Given the description of an element on the screen output the (x, y) to click on. 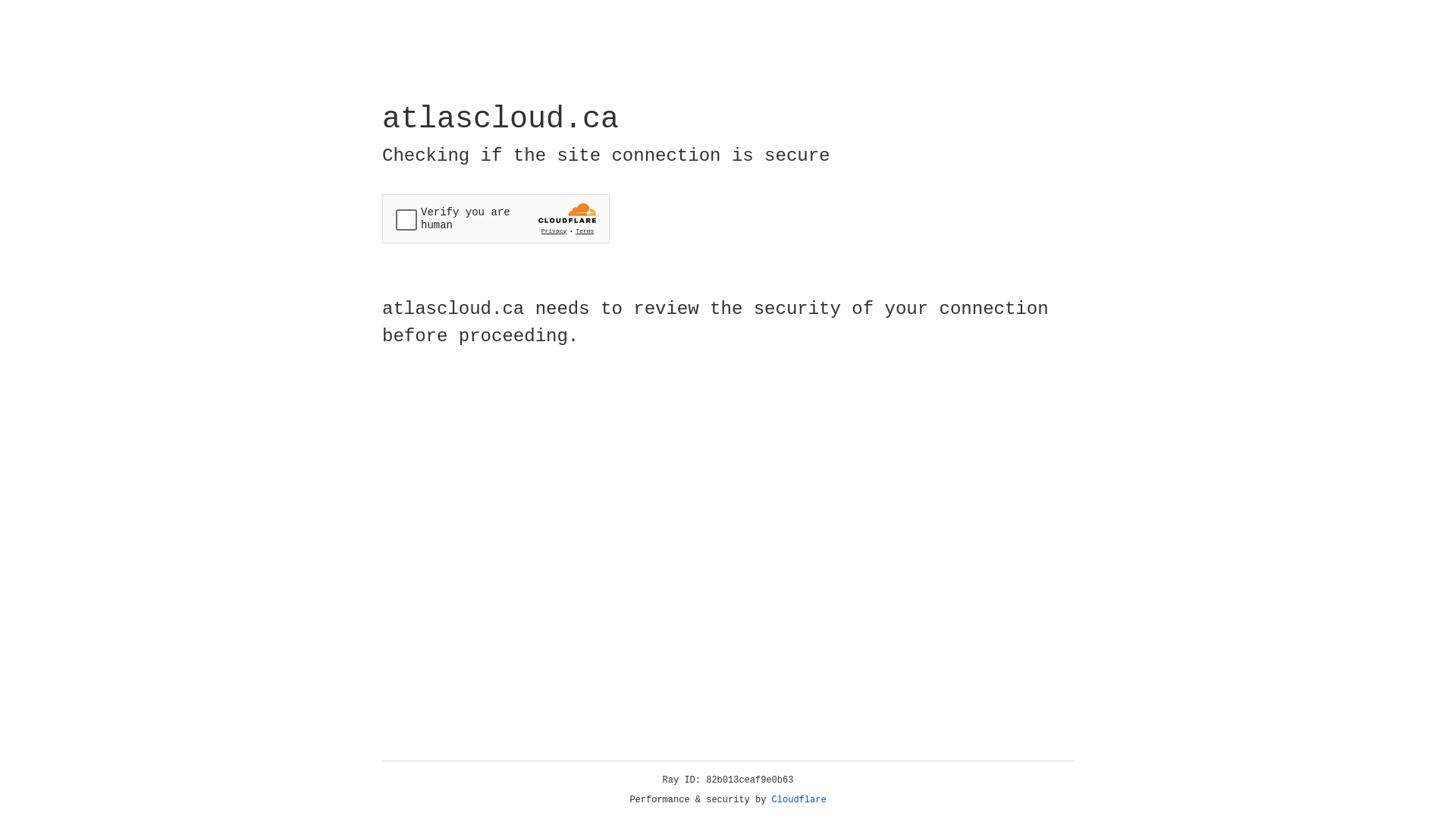
Widget containing a Cloudflare security challenge Element type: hover (495, 218)
Cloudflare Element type: text (798, 799)
